Given the description of an element on the screen output the (x, y) to click on. 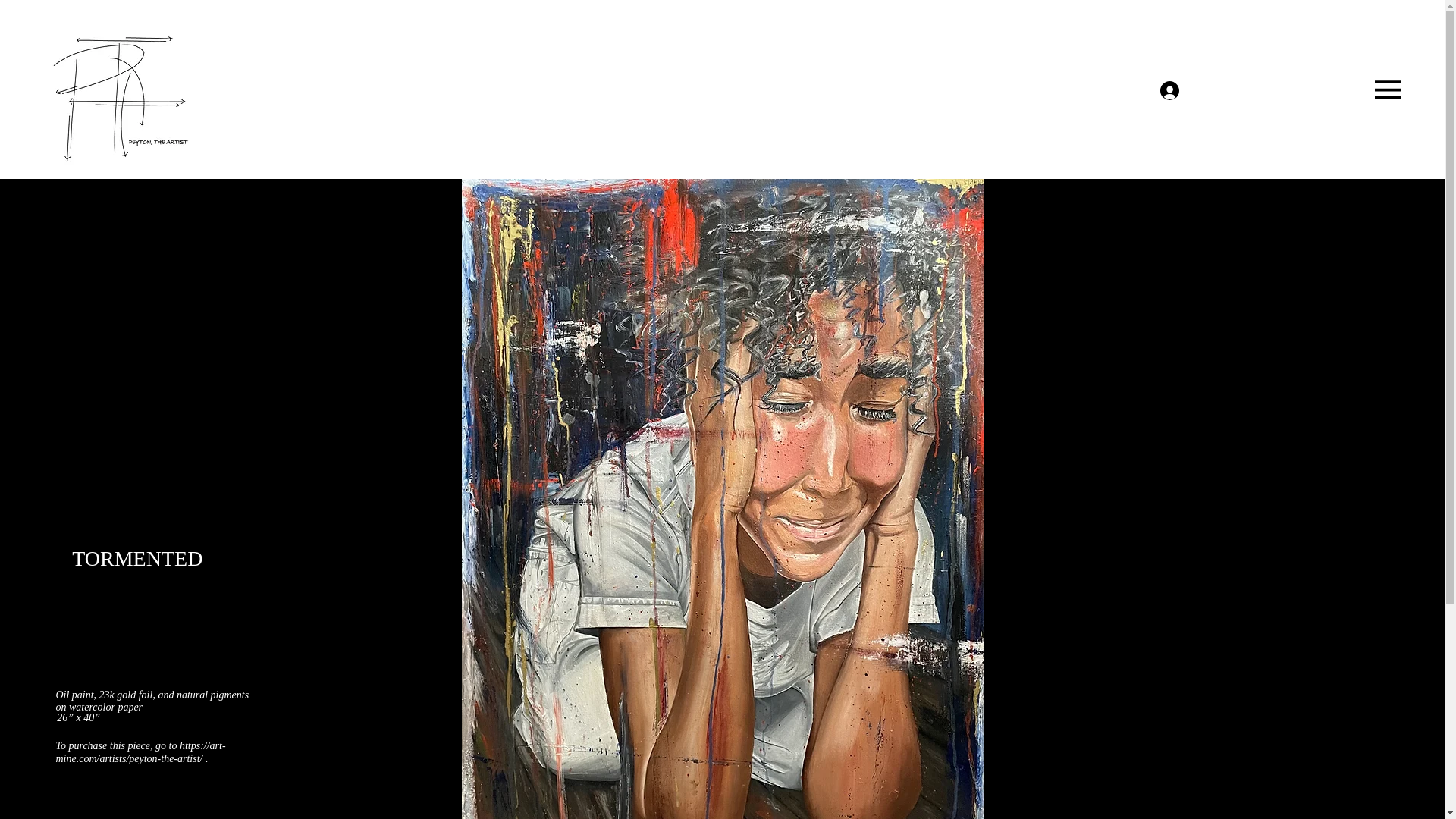
Log In (1190, 90)
